Given the description of an element on the screen output the (x, y) to click on. 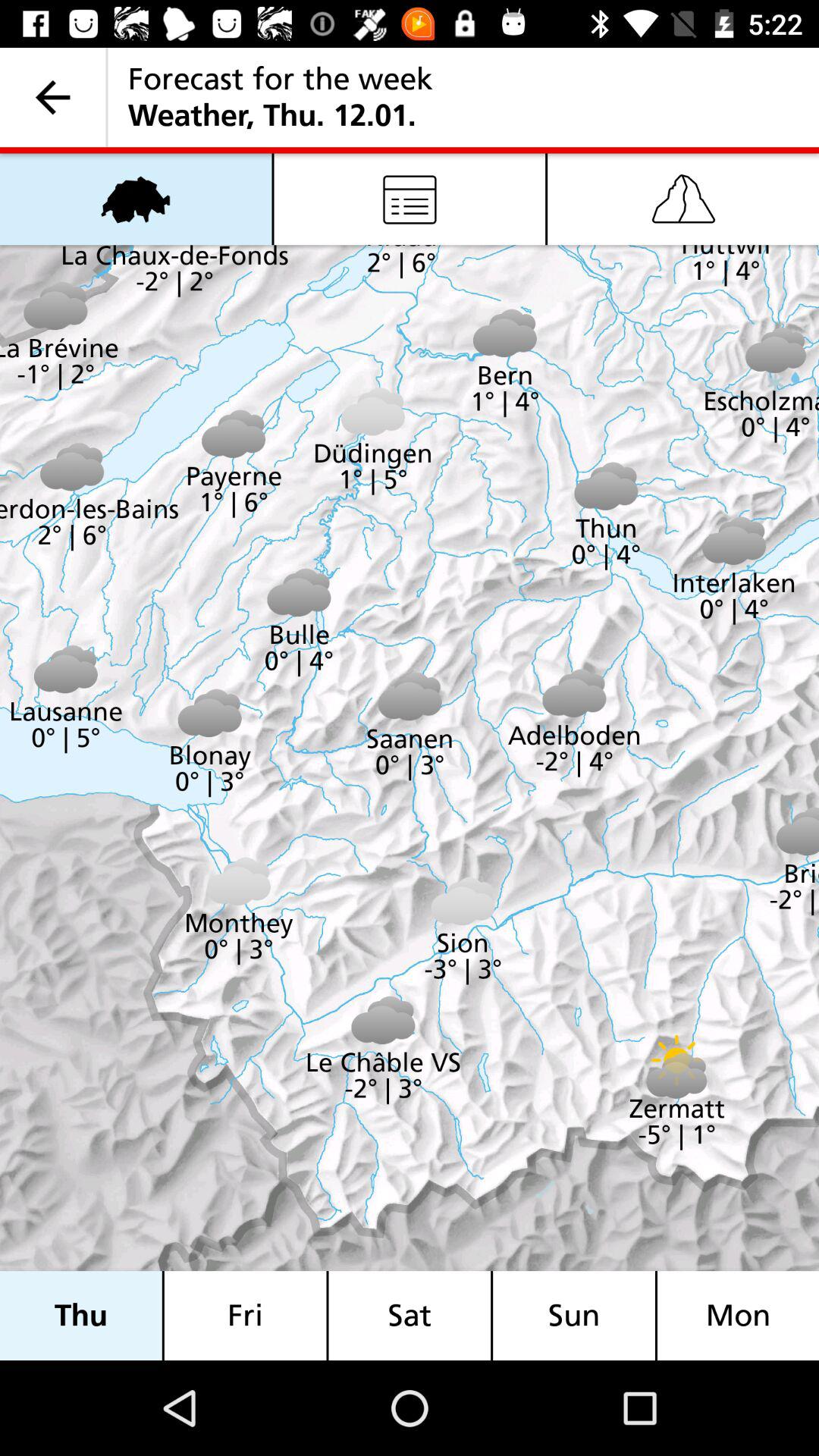
launch icon next to sun item (409, 1315)
